Given the description of an element on the screen output the (x, y) to click on. 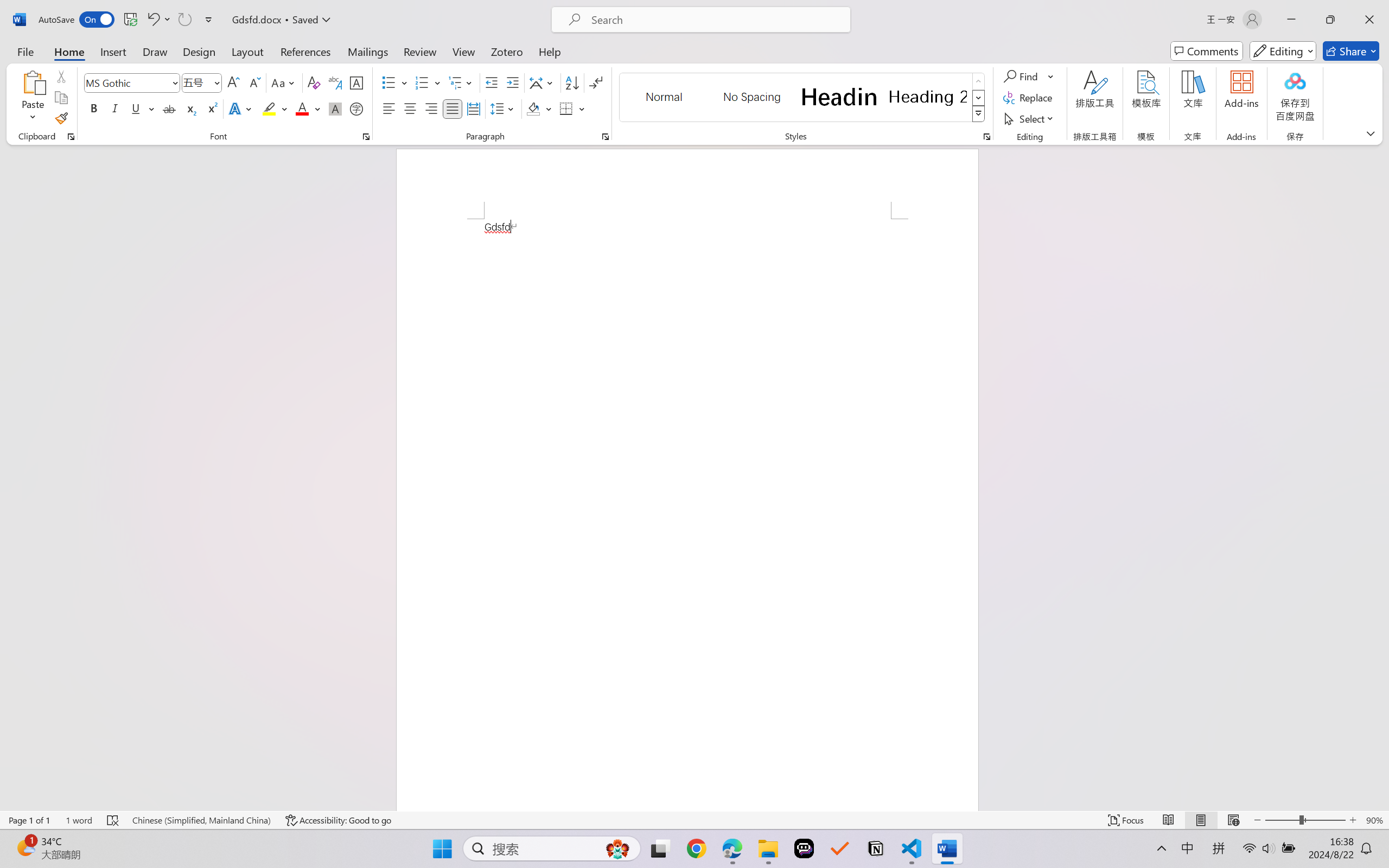
Class: NetUIScrollBar (1382, 477)
Replace... (1029, 97)
